Given the description of an element on the screen output the (x, y) to click on. 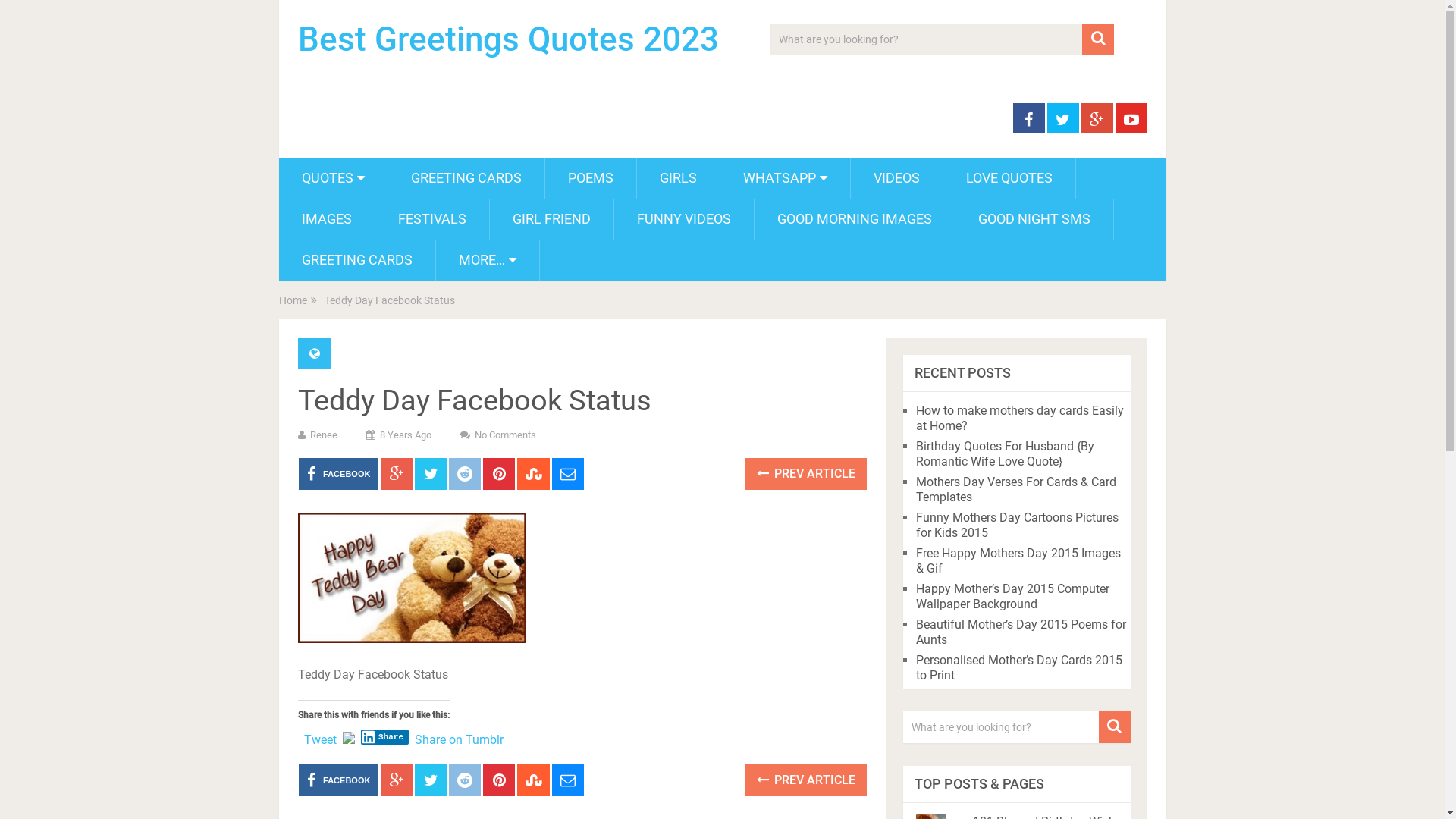
GIRLS Element type: text (678, 177)
GOOD NIGHT SMS Element type: text (1034, 218)
FUNNY VIDEOS Element type: text (683, 218)
Funny Mothers Day Cartoons Pictures for Kids 2015 Element type: text (1017, 524)
Free Happy Mothers Day 2015 Images & Gif Element type: text (1018, 560)
GREETING CARDS Element type: text (357, 259)
GOOD MORNING IMAGES Element type: text (853, 218)
FACEBOOK Element type: text (338, 780)
Share Element type: text (384, 736)
No Comments Element type: text (505, 434)
FACEBOOK Element type: text (338, 473)
Tweet Element type: text (319, 736)
PREV ARTICLE Element type: text (805, 473)
Mothers Day Verses For Cards & Card Templates Element type: text (1016, 489)
QUOTES Element type: text (333, 177)
How to make mothers day cards Easily at Home? Element type: text (1019, 418)
IMAGES Element type: text (326, 218)
Best Greetings Quotes 2023 Element type: text (507, 39)
VIDEOS Element type: text (896, 177)
GREETING CARDS Element type: text (466, 177)
Share on Tumblr Element type: text (458, 736)
WHATSAPP Element type: text (785, 177)
LOVE QUOTES Element type: text (1009, 177)
Home Element type: text (293, 300)
POEMS Element type: text (589, 177)
Renee Element type: text (322, 434)
GIRL FRIEND Element type: text (551, 218)
PREV ARTICLE Element type: text (805, 780)
FESTIVALS Element type: text (431, 218)
